Given the description of an element on the screen output the (x, y) to click on. 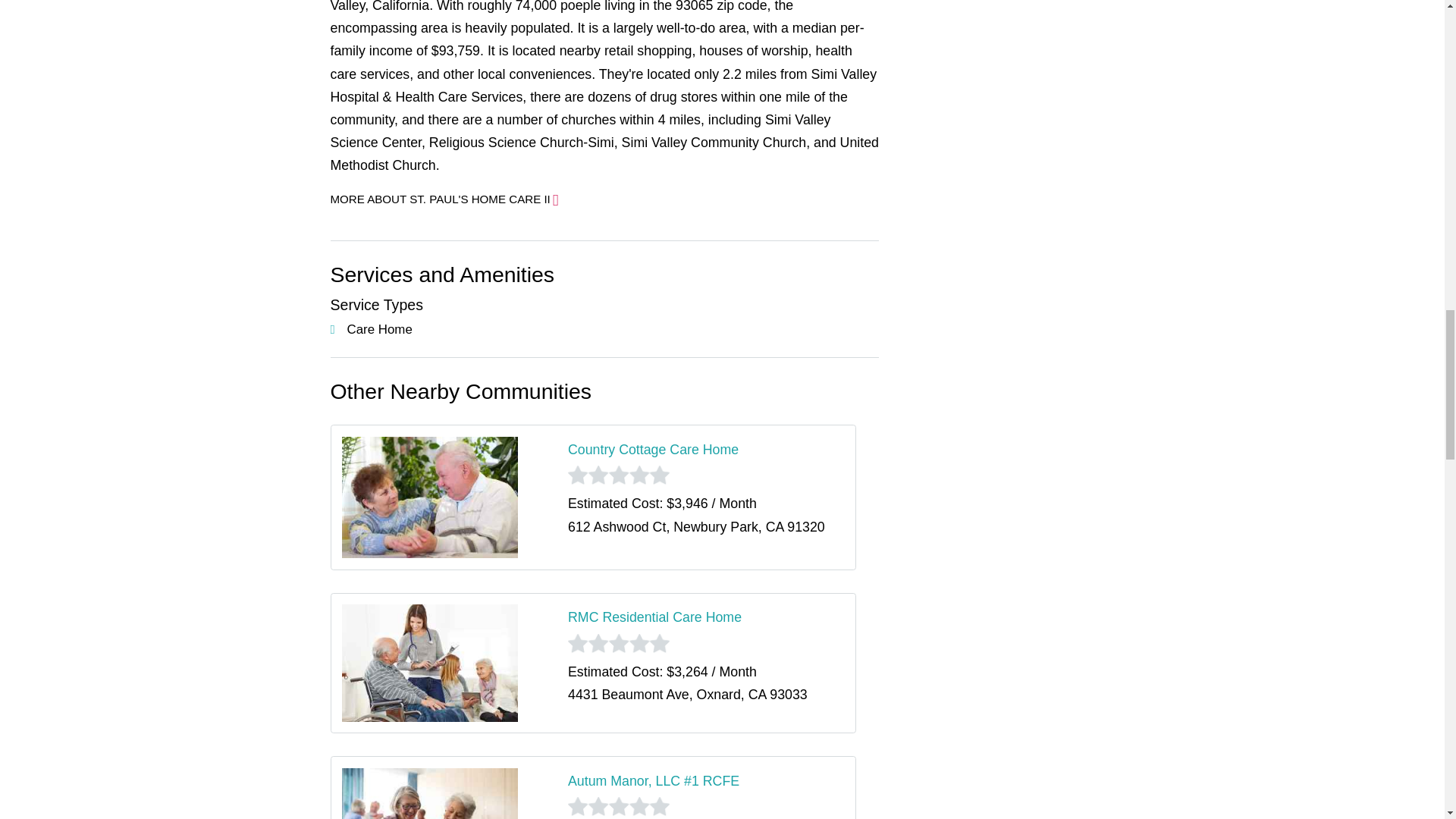
0 Star Rating (618, 475)
0 Star Rating (618, 643)
0 Star Rating (618, 806)
Country Cottage Care Home in Newbury Park, CA (652, 449)
RMC Residential Care Home in Oxnard, CA (654, 616)
